Given the description of an element on the screen output the (x, y) to click on. 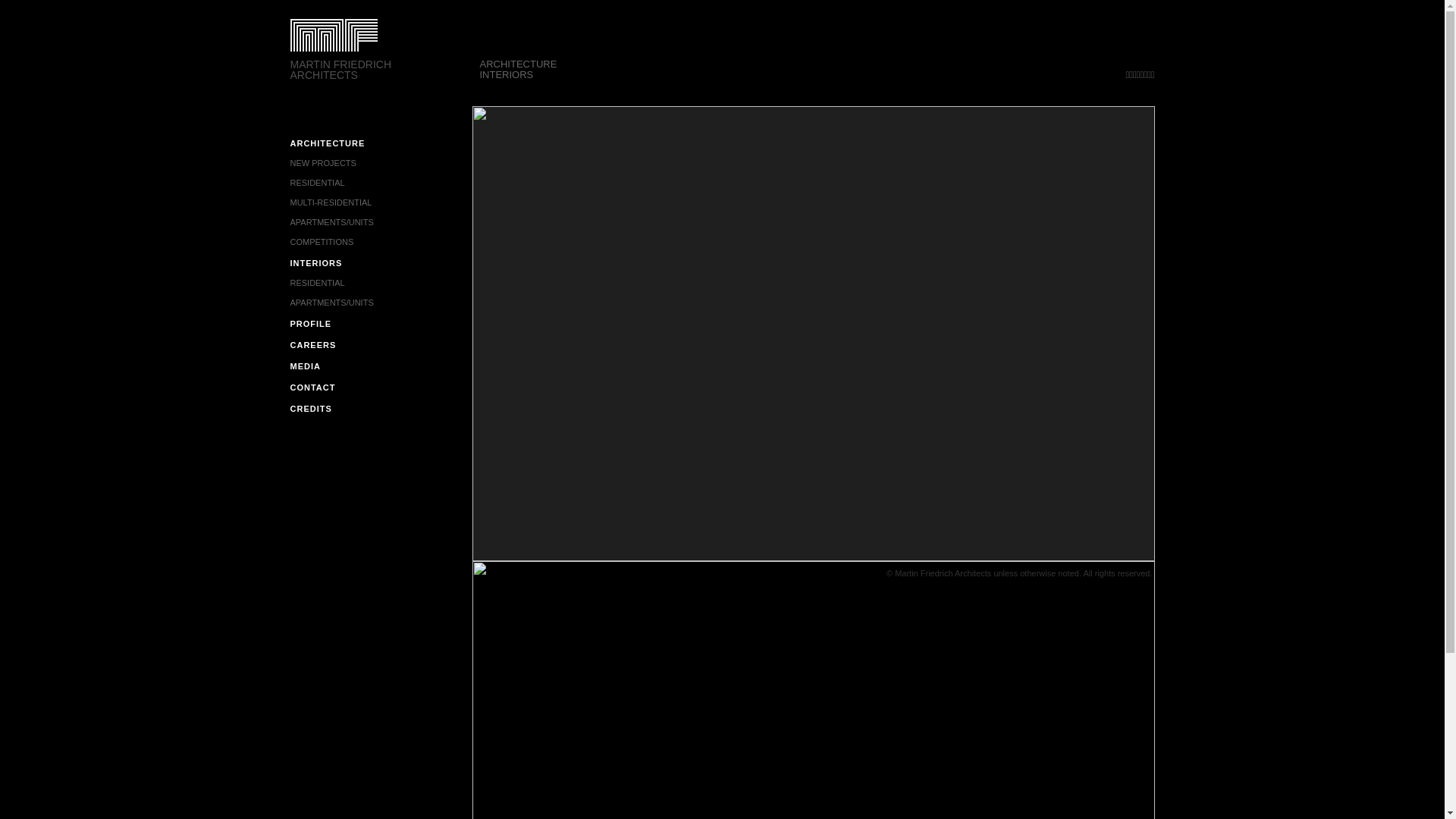
NEW PROJECTS Element type: text (374, 159)
PROFILE Element type: text (310, 323)
ARCHITECTURE Element type: text (326, 142)
RESIDENTIAL Element type: text (374, 279)
CAREERS Element type: text (312, 344)
Martin Friedrich Architects Element type: text (355, 43)
RESIDENTIAL Element type: text (374, 179)
CREDITS Element type: text (310, 408)
INTERIORS Element type: text (315, 262)
MULTI-RESIDENTIAL Element type: text (374, 199)
CONTACT Element type: text (312, 387)
APARTMENTS/UNITS Element type: text (374, 299)
APARTMENTS/UNITS Element type: text (374, 219)
MEDIA Element type: text (304, 365)
COMPETITIONS Element type: text (374, 238)
